Given the description of an element on the screen output the (x, y) to click on. 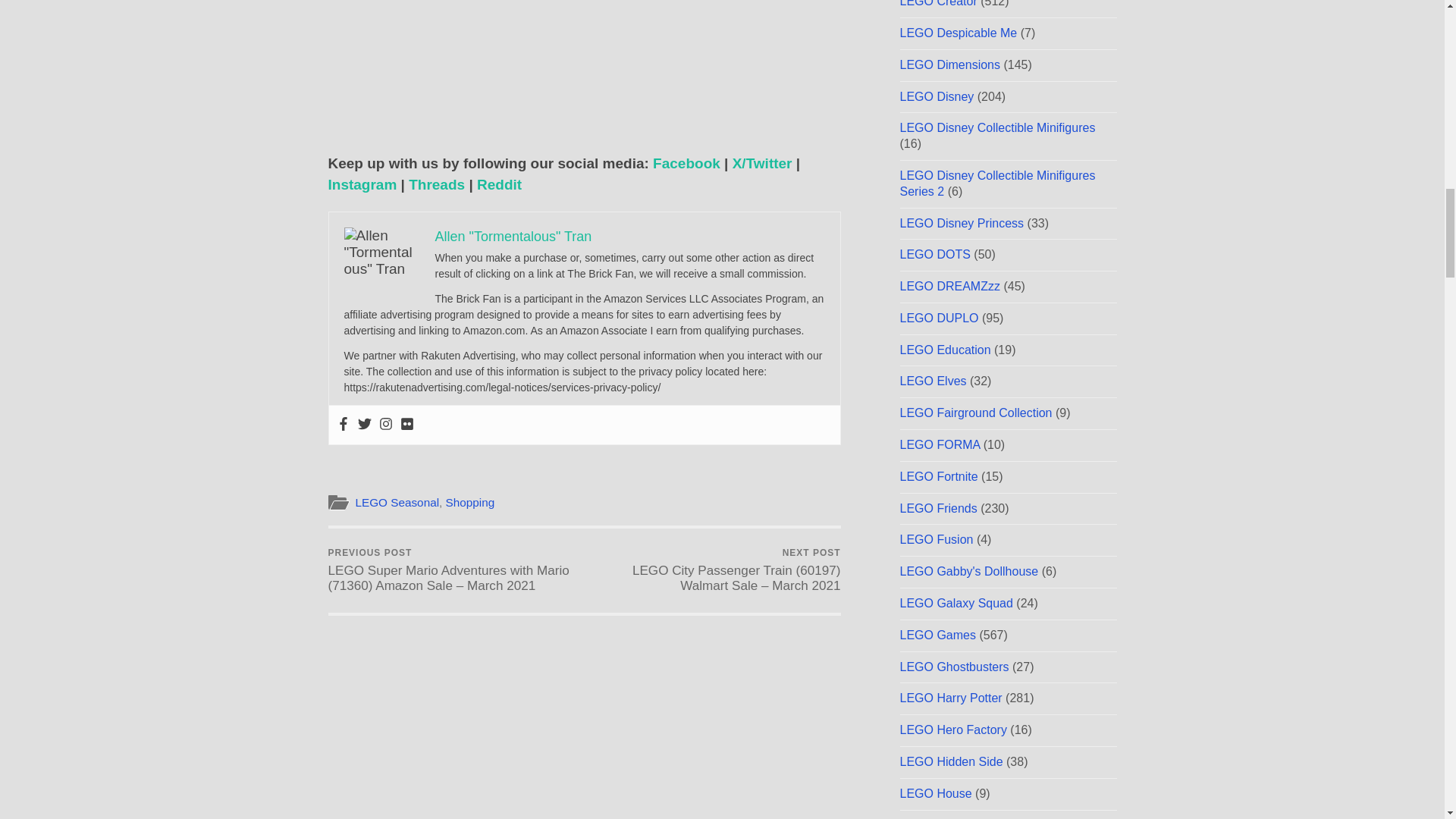
Threads (436, 184)
Allen "Tormentalous" Tran (513, 236)
Instagram (361, 184)
Facebook (686, 163)
Reddit (499, 184)
